Given the description of an element on the screen output the (x, y) to click on. 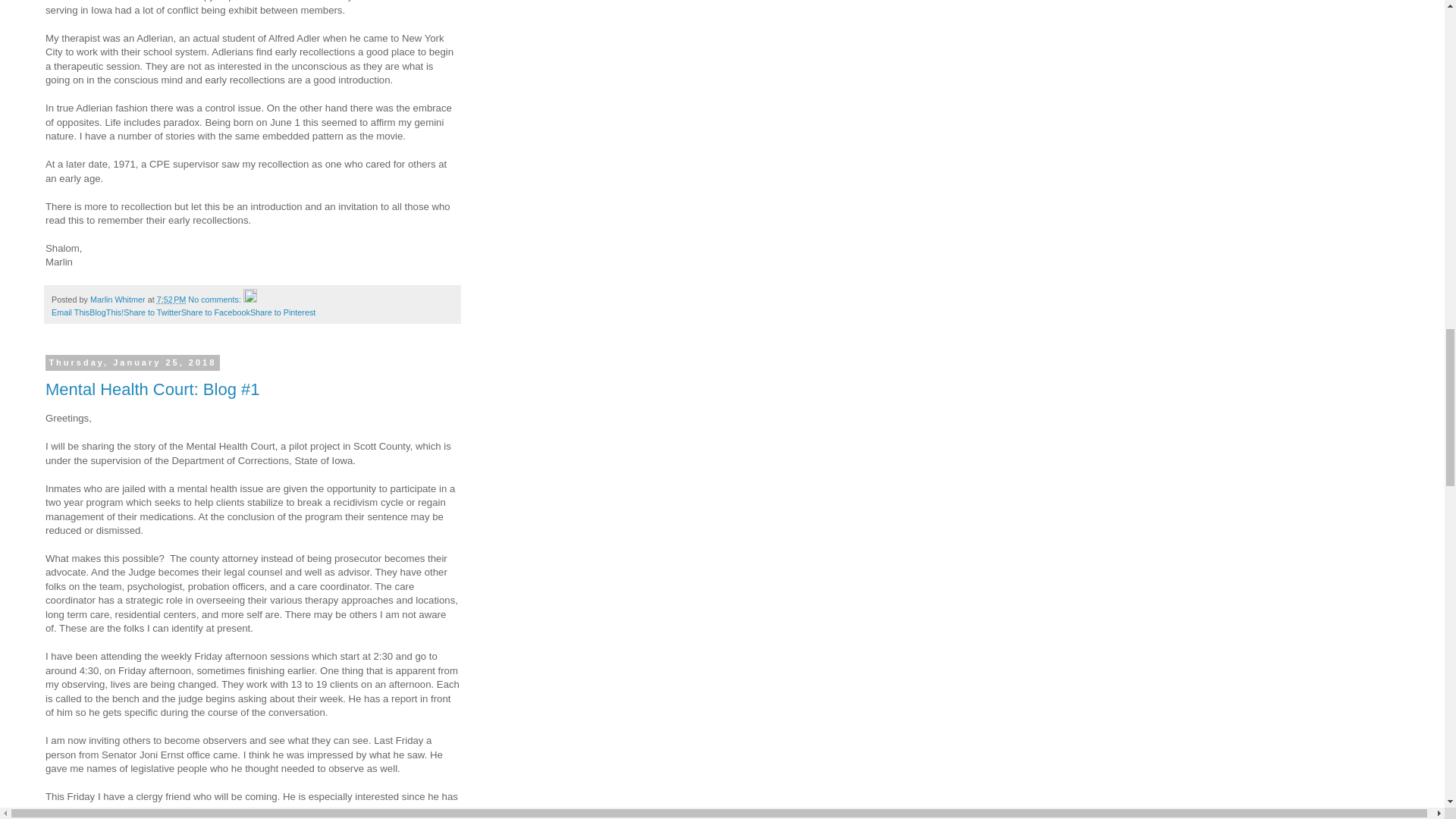
permanent link (171, 298)
Share to Facebook (215, 311)
Email This (69, 311)
Share to Twitter (151, 311)
No comments: (215, 298)
Share to Pinterest (282, 311)
Edit Post (250, 298)
author profile (119, 298)
Marlin Whitmer (119, 298)
BlogThis! (105, 311)
BlogThis! (105, 311)
Share to Twitter (151, 311)
Share to Facebook (215, 311)
Email This (69, 311)
